Given the description of an element on the screen output the (x, y) to click on. 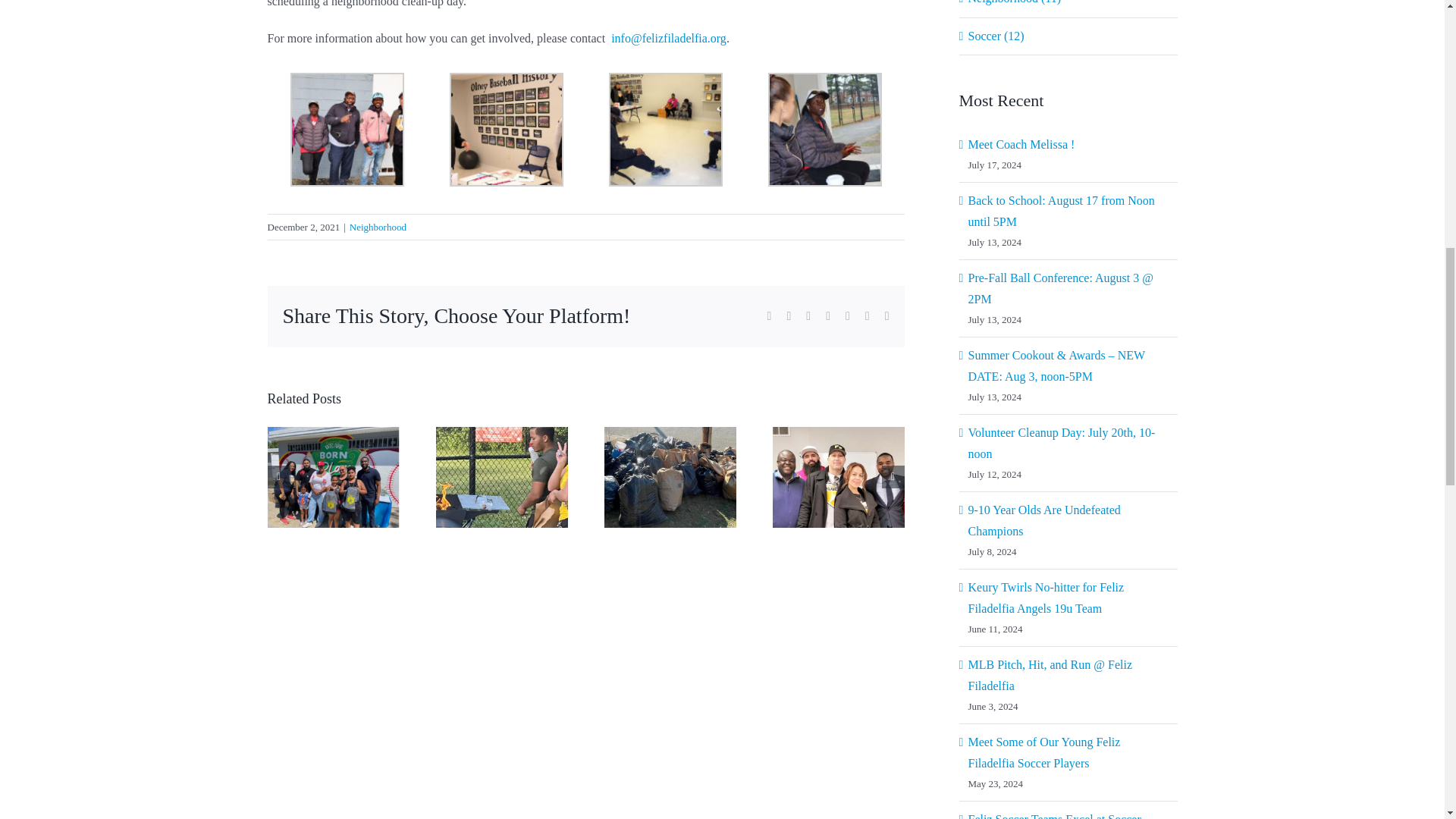
LinkedIn (827, 316)
Facebook (769, 316)
WhatsApp (847, 316)
Tumblr (866, 316)
X (788, 316)
Email (887, 316)
Reddit (808, 316)
